Given the description of an element on the screen output the (x, y) to click on. 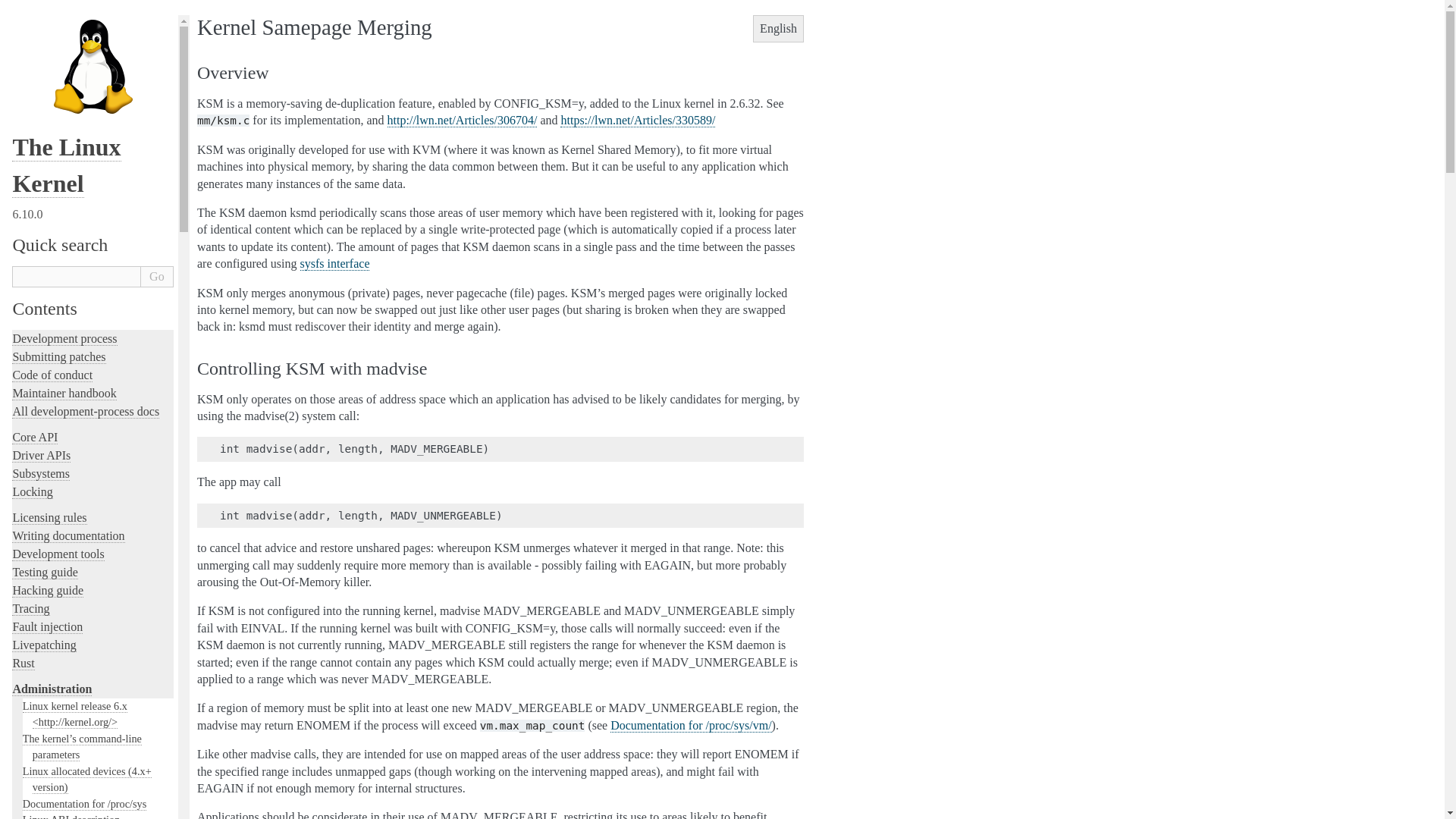
Core API (34, 437)
Go (157, 276)
Driver APIs (40, 455)
Testing guide (44, 572)
Go (157, 276)
Writing documentation (67, 535)
Code of conduct (52, 375)
Subsystems (40, 473)
Rust (22, 663)
Linux ABI description (71, 816)
Tracing (30, 608)
Maintainer handbook (63, 393)
Administration (51, 689)
Hacking guide (46, 590)
Fault injection (46, 626)
